Given the description of an element on the screen output the (x, y) to click on. 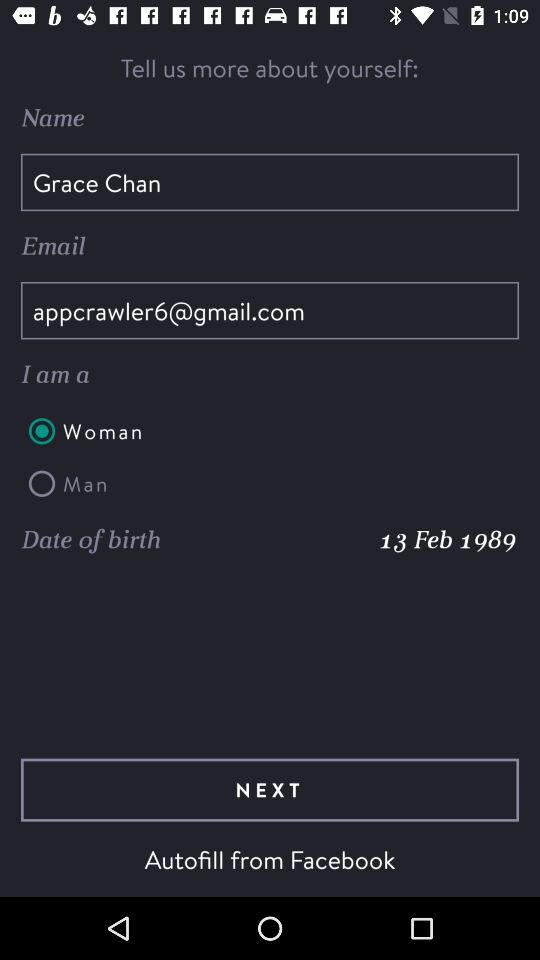
swipe to autofill from facebook item (270, 859)
